Given the description of an element on the screen output the (x, y) to click on. 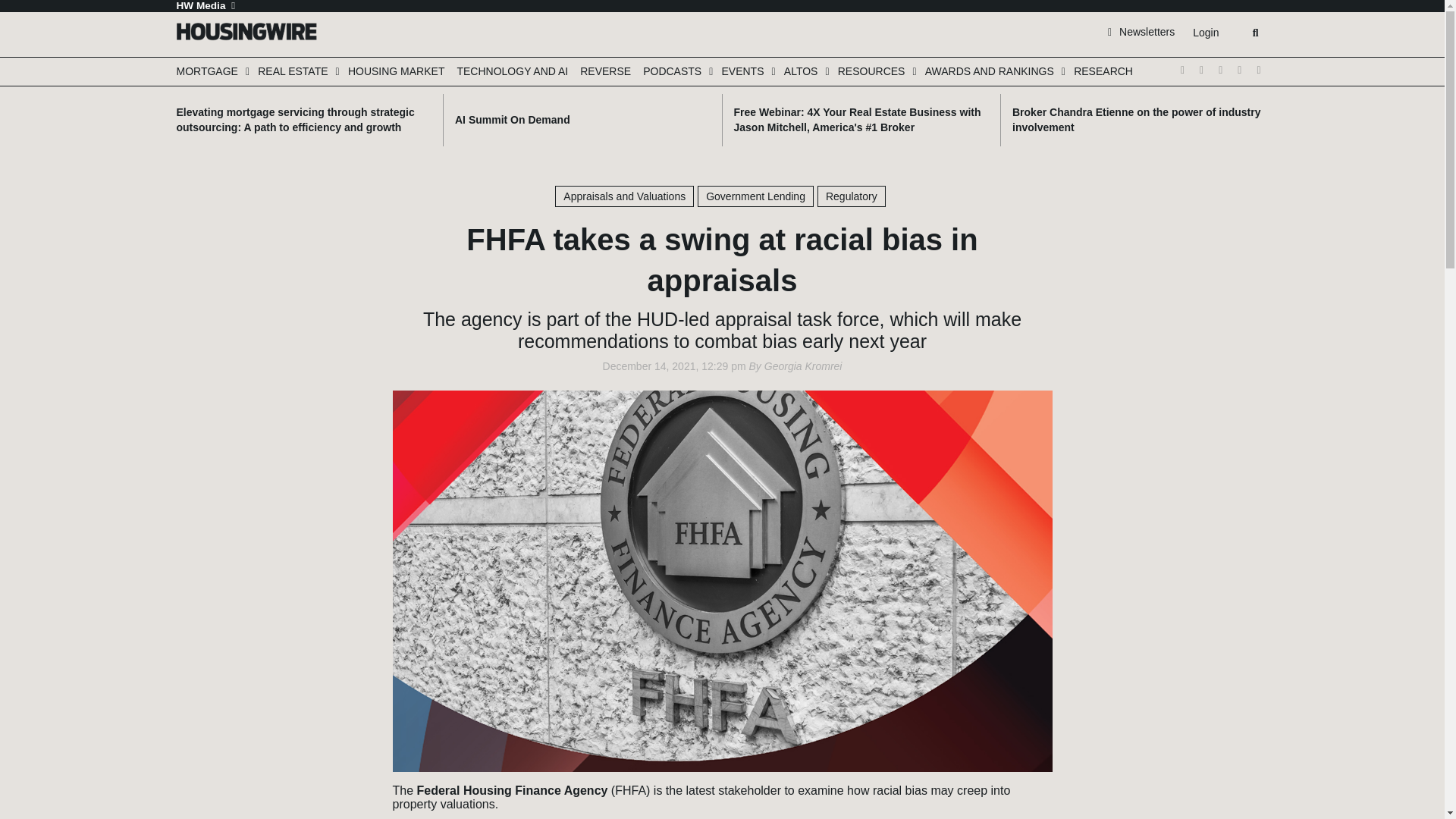
Newsletters (1141, 31)
Posts by Georgia Kromrei (803, 366)
Login (1205, 32)
